Given the description of an element on the screen output the (x, y) to click on. 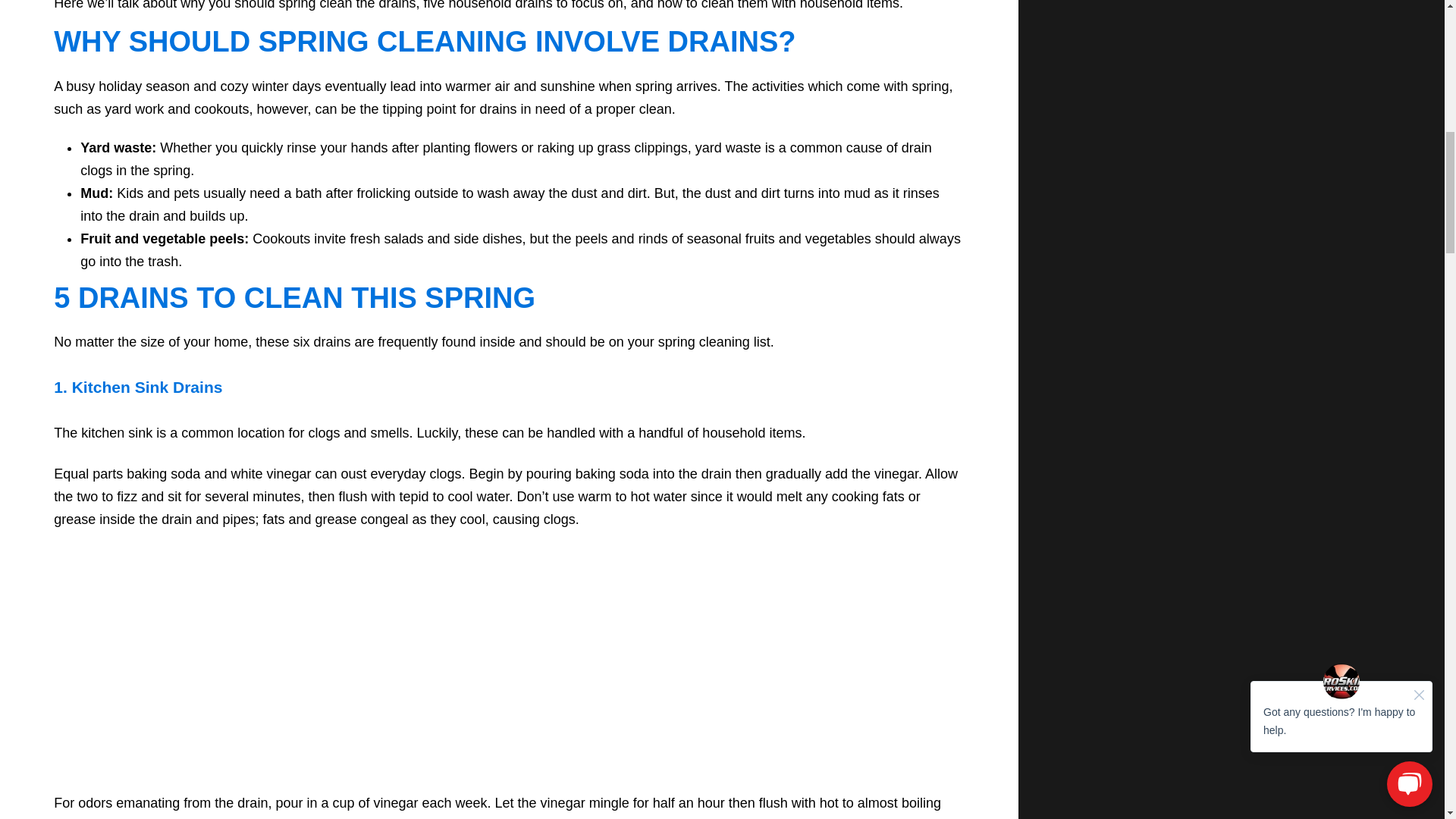
YouTube video player (508, 658)
